Given the description of an element on the screen output the (x, y) to click on. 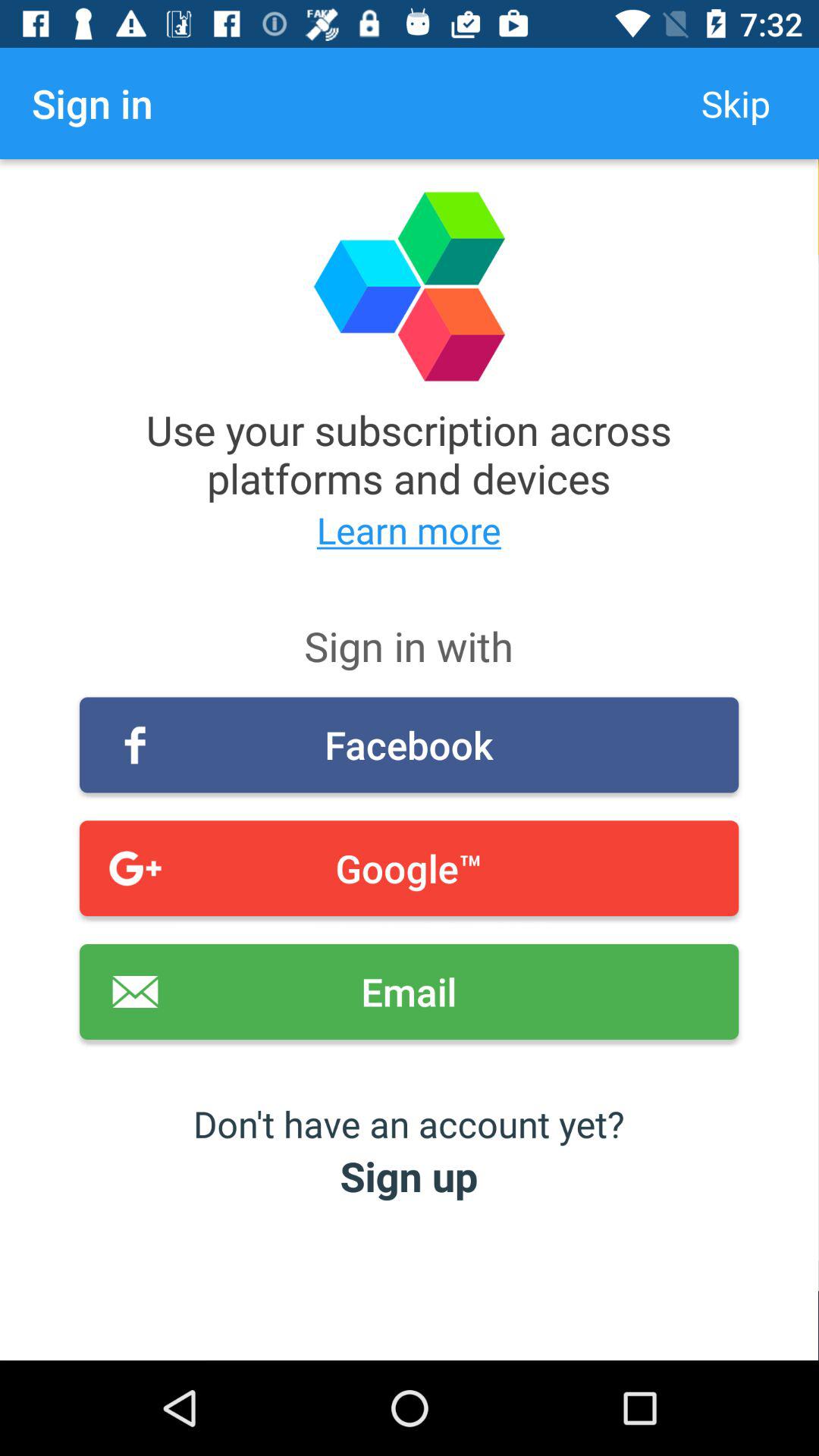
choose email (408, 991)
